Given the description of an element on the screen output the (x, y) to click on. 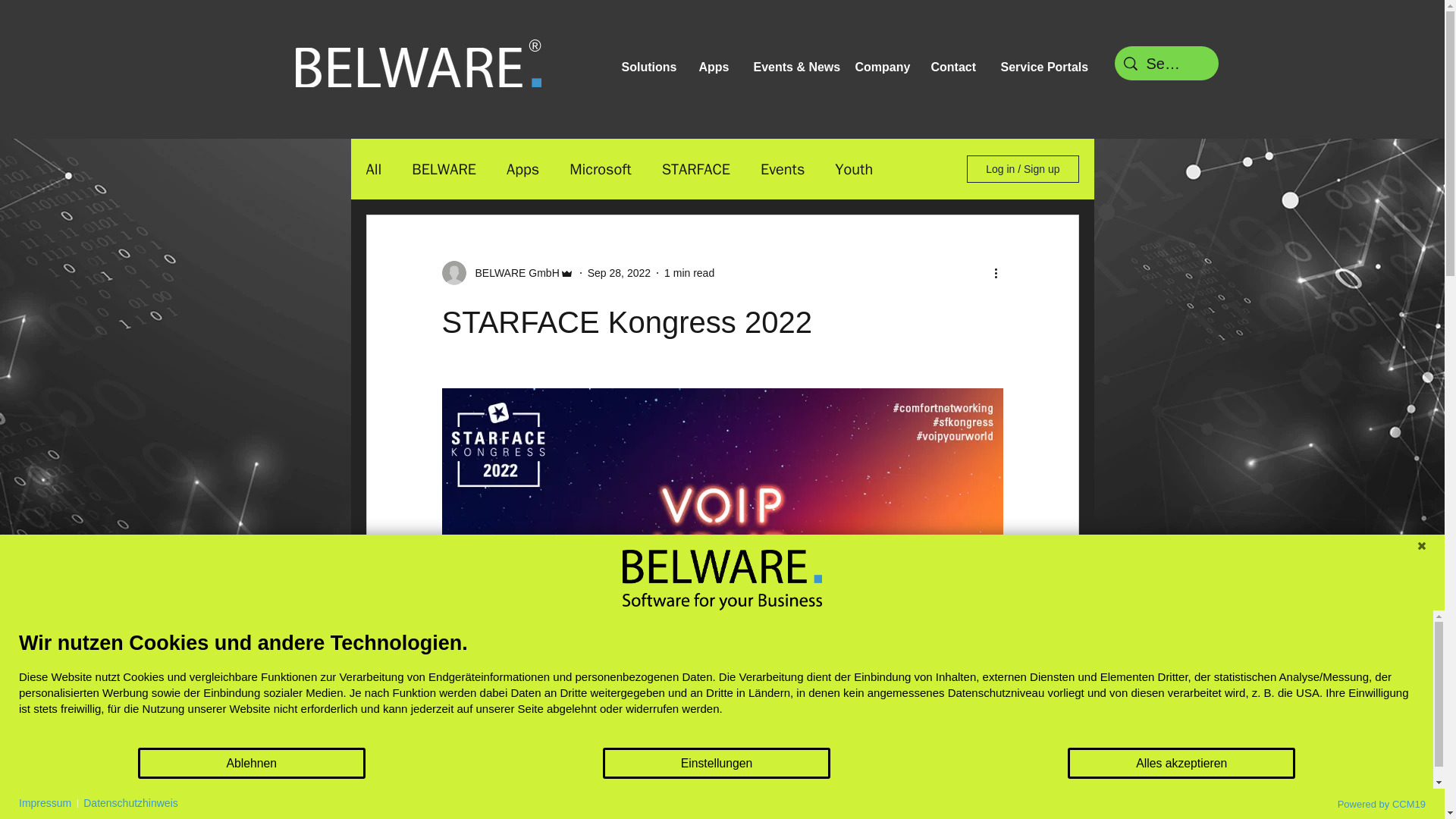
Apps (718, 66)
Solutions (652, 66)
Contact (957, 66)
Microsoft (599, 168)
Close (1421, 545)
STARFACE (696, 168)
Apps (522, 168)
Company (885, 66)
1 min read (688, 272)
BELWARE GmbH (512, 273)
BELWARE (444, 168)
Service Portals (1045, 66)
Sep 28, 2022 (619, 272)
